Given the description of an element on the screen output the (x, y) to click on. 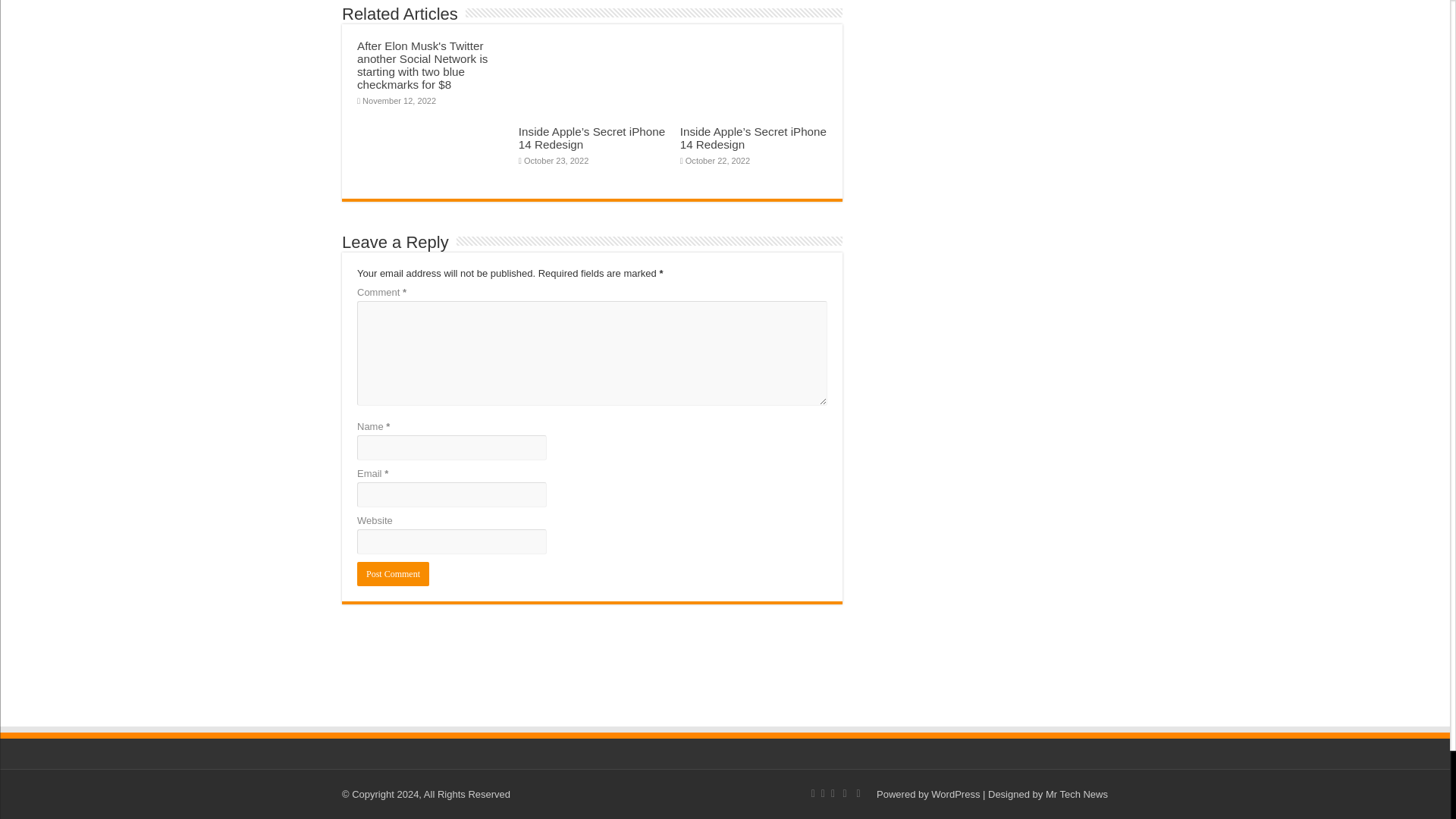
Post Comment (392, 573)
